Given the description of an element on the screen output the (x, y) to click on. 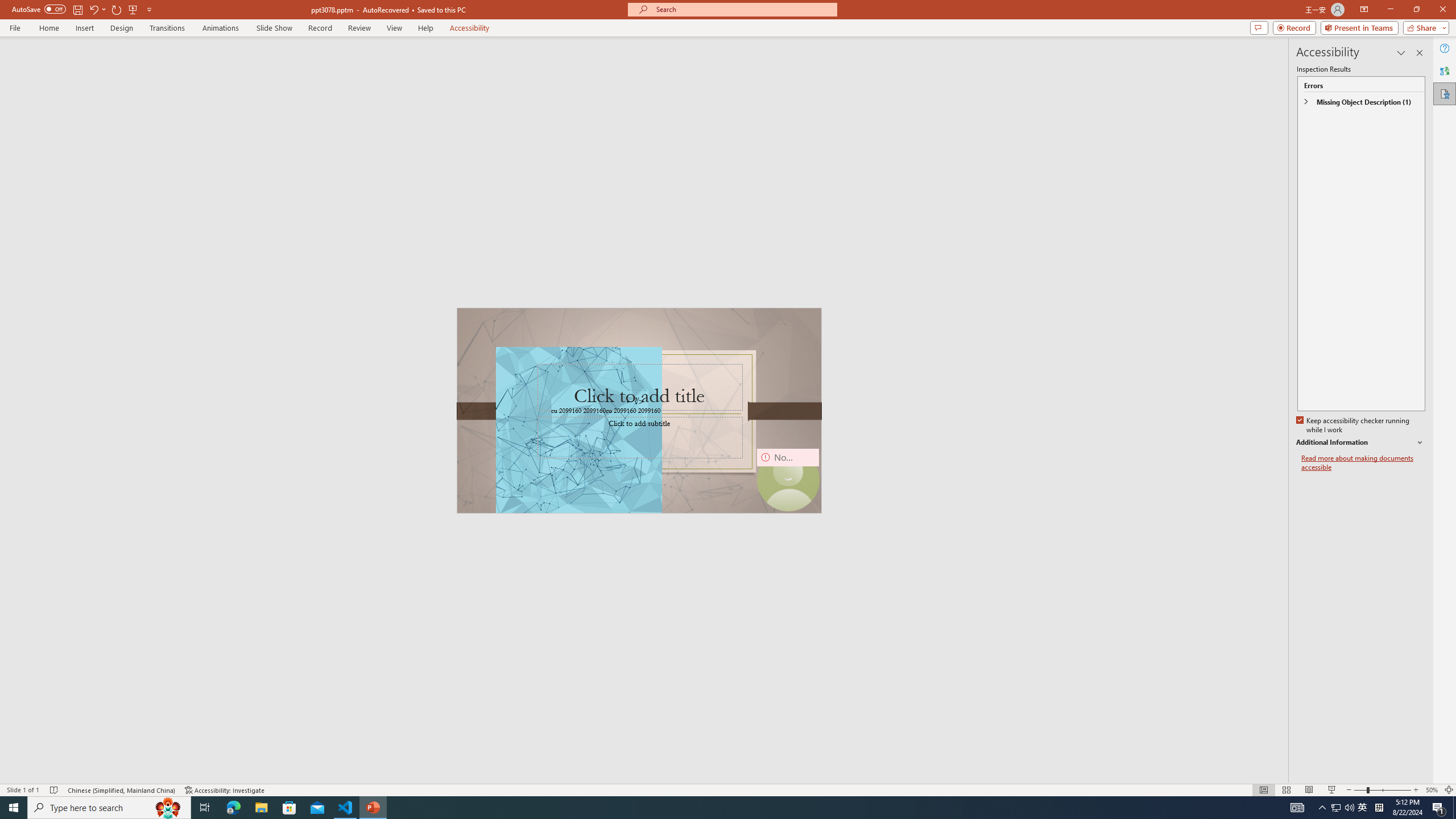
Zoom 50% (1431, 790)
An abstract genetic concept (639, 409)
TextBox 7 (635, 401)
